Given the description of an element on the screen output the (x, y) to click on. 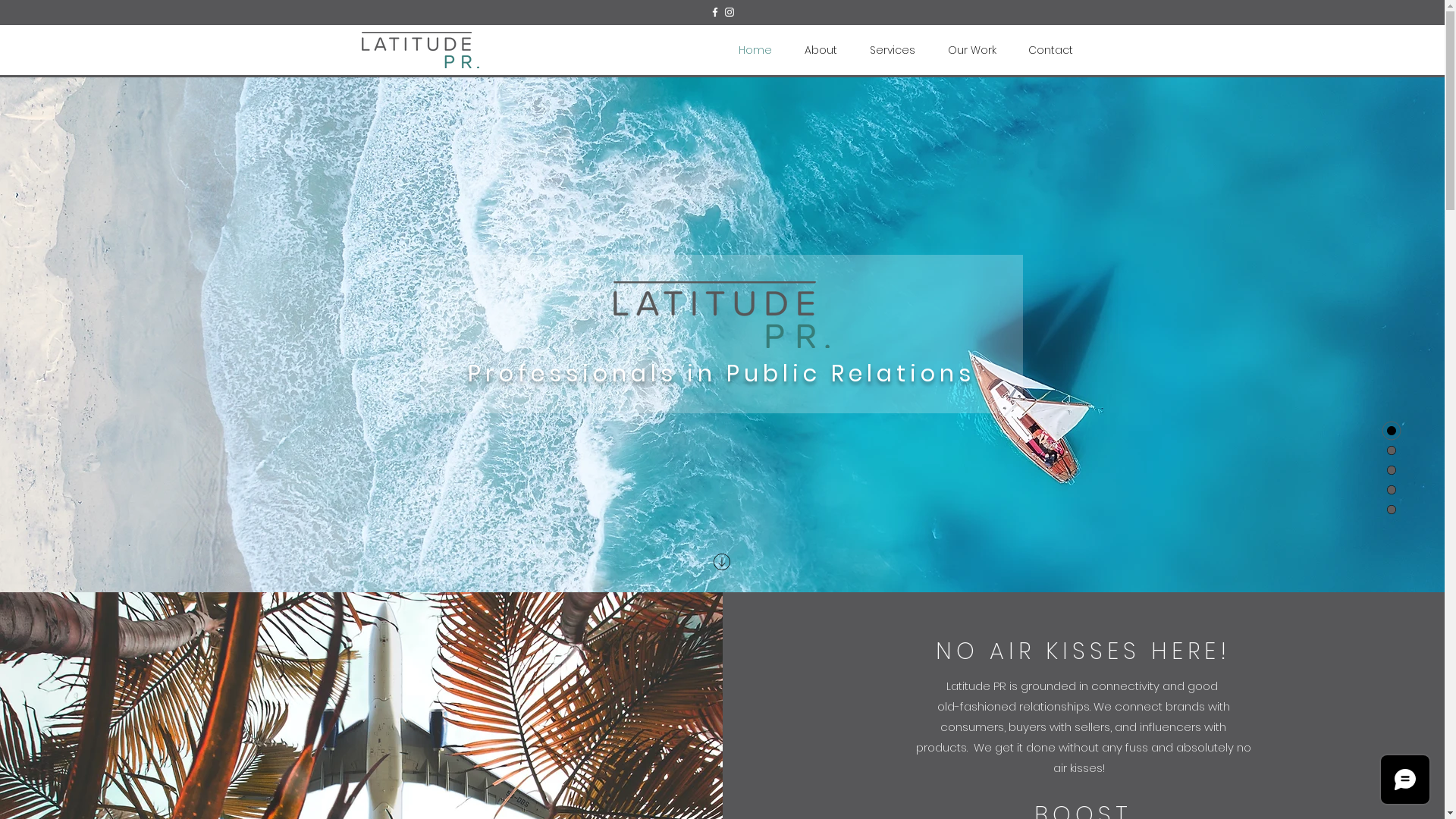
Our Work Element type: text (971, 50)
Home Element type: text (754, 50)
Services Element type: text (892, 50)
Contact Element type: text (1049, 50)
